Given the description of an element on the screen output the (x, y) to click on. 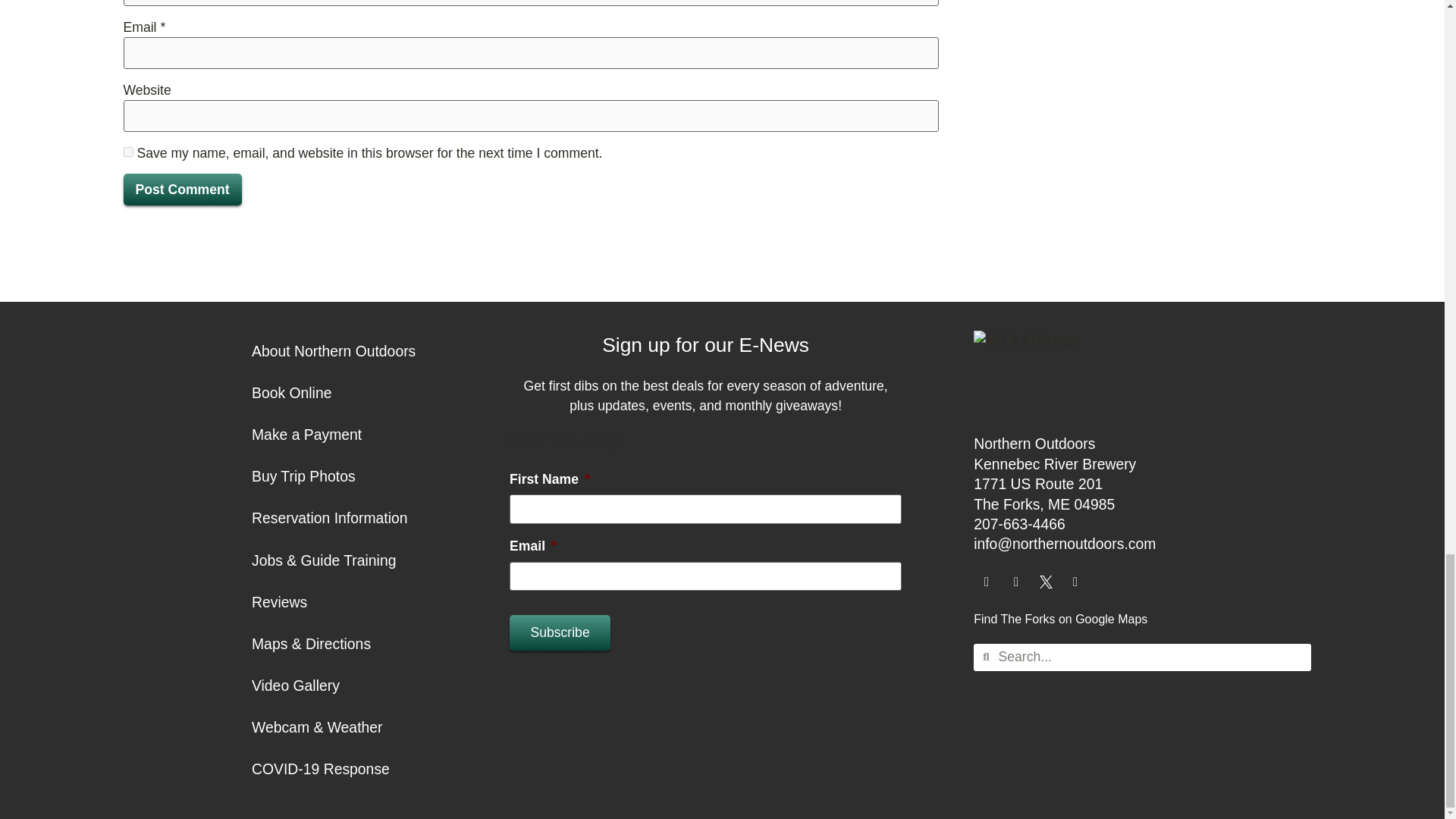
Post Comment (181, 189)
yes (127, 152)
Subscribe (559, 632)
